Given the description of an element on the screen output the (x, y) to click on. 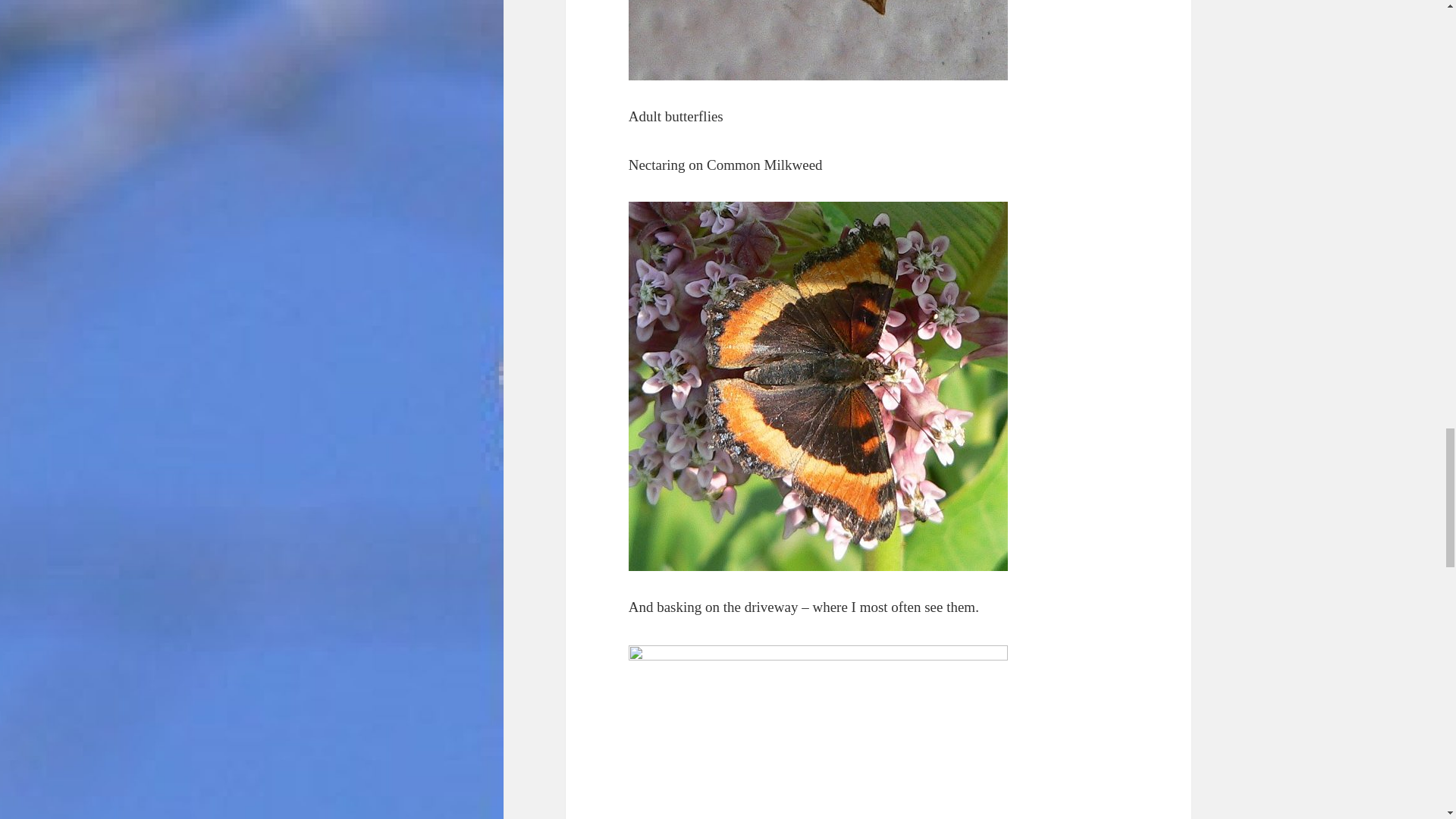
Nymphalis milberti (817, 40)
